Given the description of an element on the screen output the (x, y) to click on. 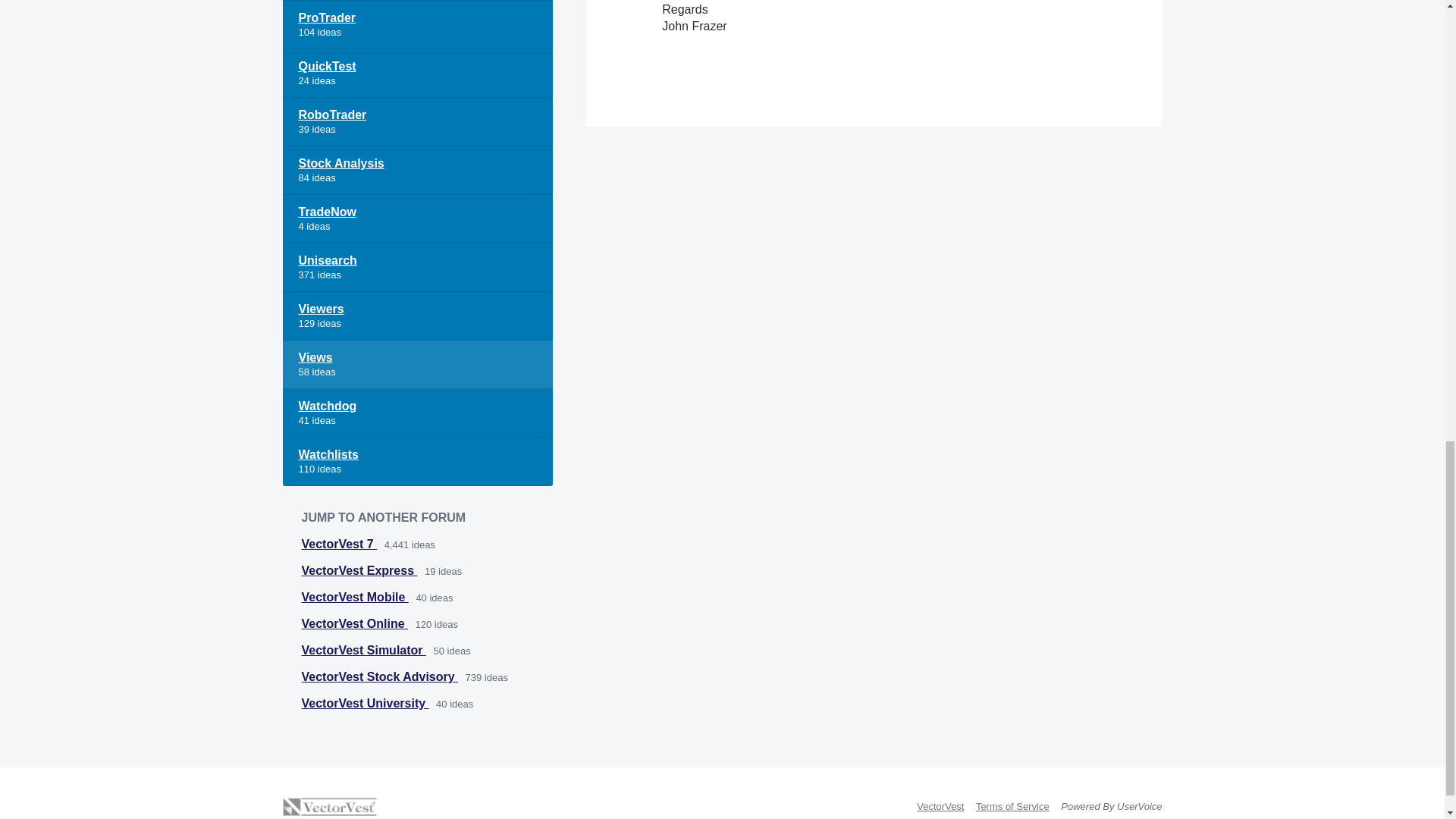
VectorVest 7 (339, 543)
VectorVest Express (359, 570)
Views (417, 364)
View all ideas in category RoboTrader (417, 121)
Watchdog (417, 413)
VectorVest Simulator (363, 649)
View all ideas in category Unisearch (417, 267)
Viewers (417, 315)
ProTrader (417, 24)
View all ideas in category QuickTest (417, 73)
VectorVest Online (355, 623)
QuickTest (417, 73)
TradeNow (417, 218)
